Given the description of an element on the screen output the (x, y) to click on. 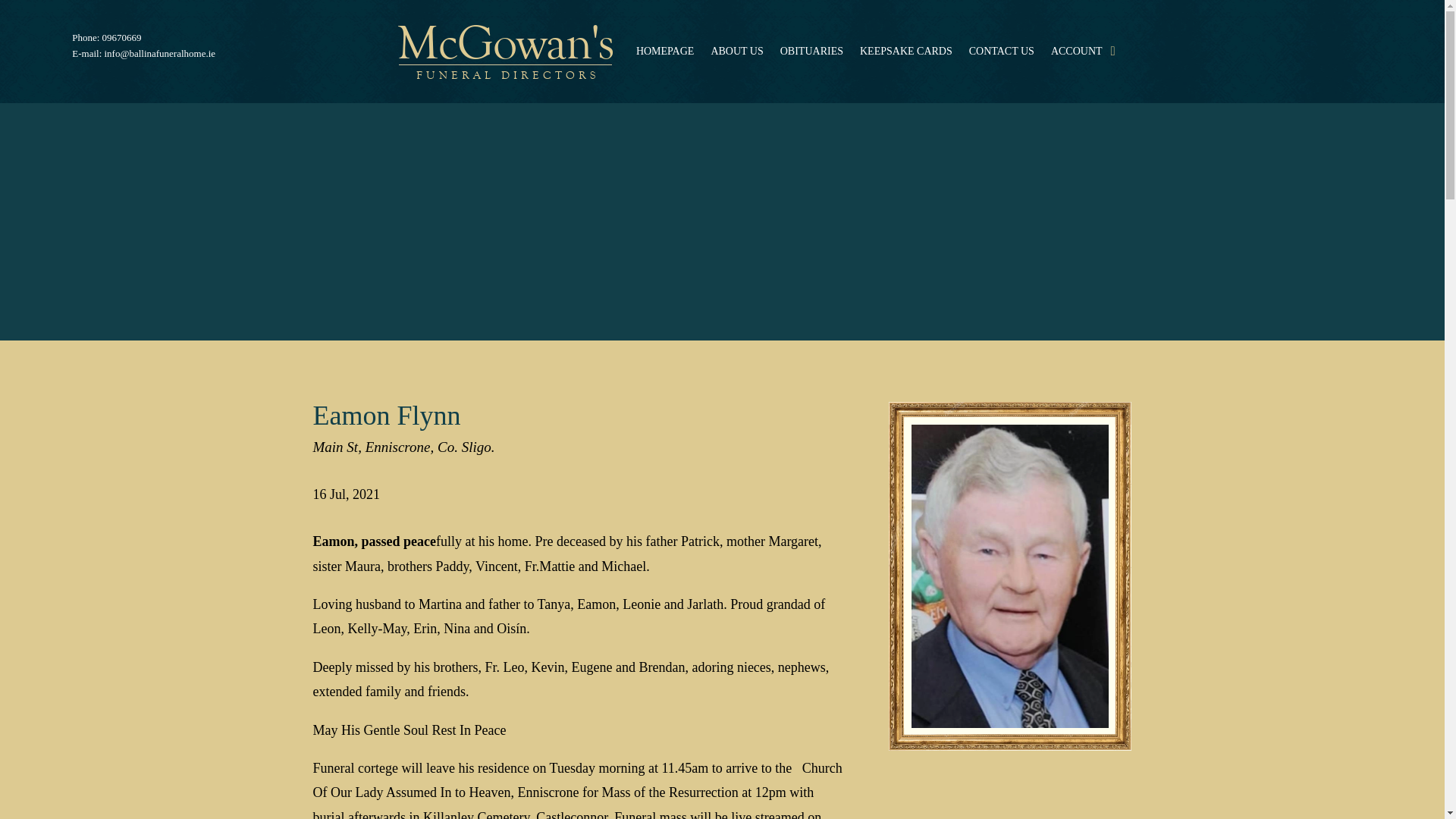
KEEPSAKE CARDS (906, 51)
OBITUARIES (811, 51)
HOMEPAGE (665, 51)
CONTACT US (1001, 51)
ACCOUNT (1076, 51)
ABOUT US (736, 51)
